Given the description of an element on the screen output the (x, y) to click on. 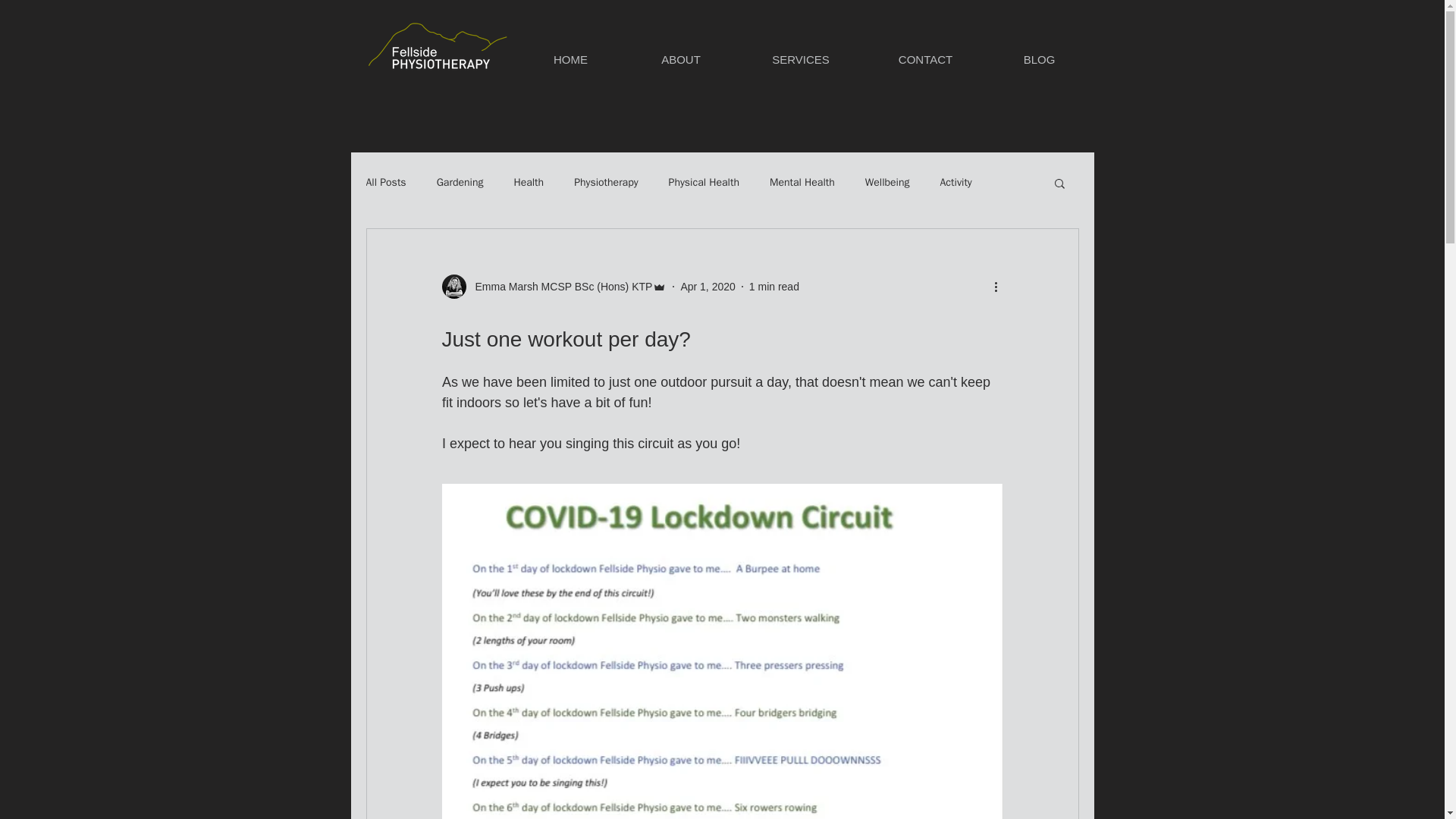
ABOUT (681, 59)
HOME (570, 59)
1 min read (774, 286)
SERVICES (799, 59)
Physical Health (703, 182)
CONTACT (925, 59)
Mental Health (802, 182)
BLOG (1039, 59)
Wellbeing (887, 182)
Apr 1, 2020 (707, 286)
Activity (956, 182)
All Posts (385, 182)
Health (528, 182)
Physiotherapy (605, 182)
Gardening (459, 182)
